Given the description of an element on the screen output the (x, y) to click on. 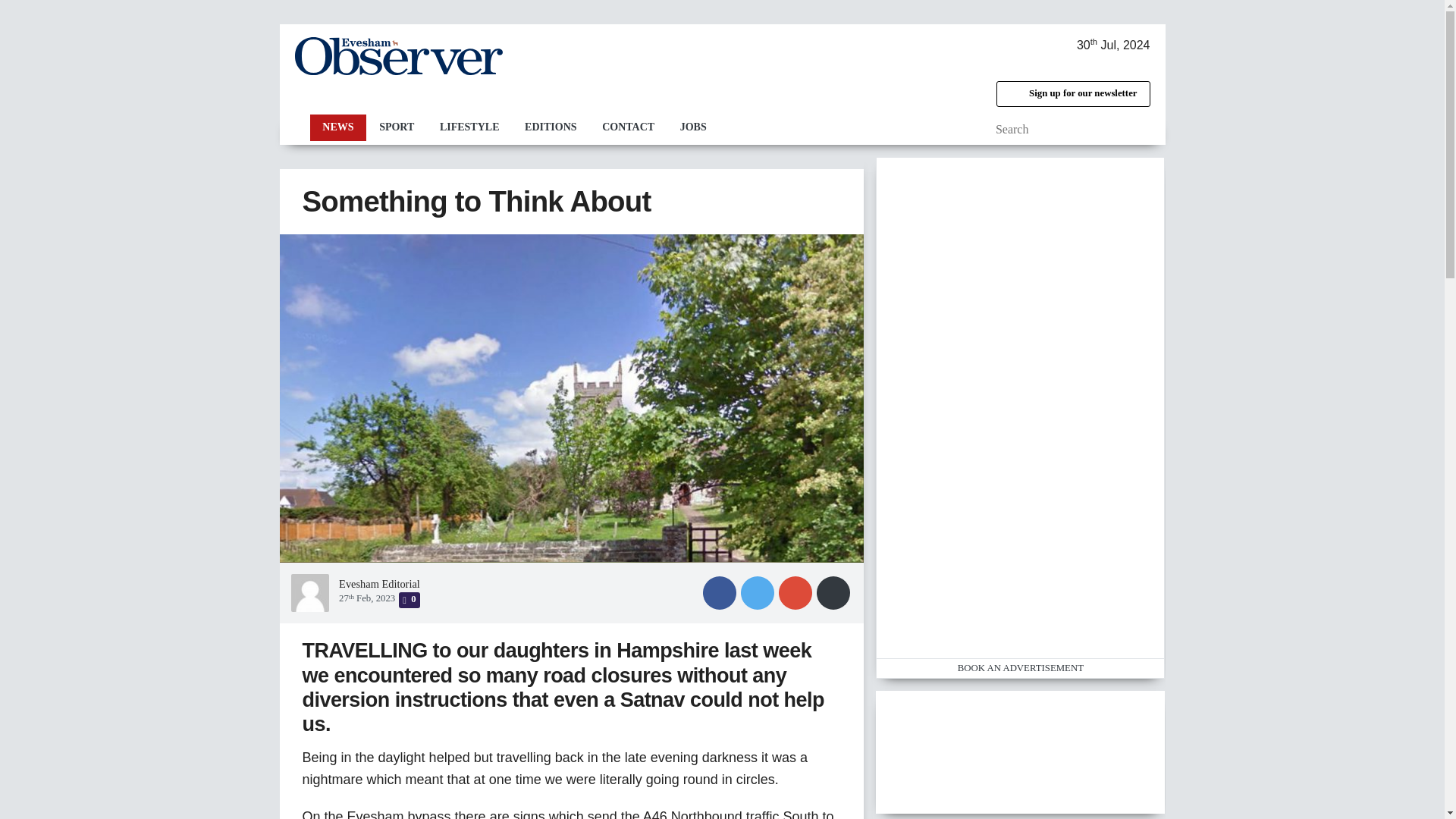
The Evesham Observer (398, 55)
NEWS (337, 127)
JOBS (692, 127)
SPORT (396, 127)
LIFESTYLE (469, 127)
EDITIONS (550, 127)
CONTACT (627, 127)
  Sign up for our newsletter (1072, 94)
